Given the description of an element on the screen output the (x, y) to click on. 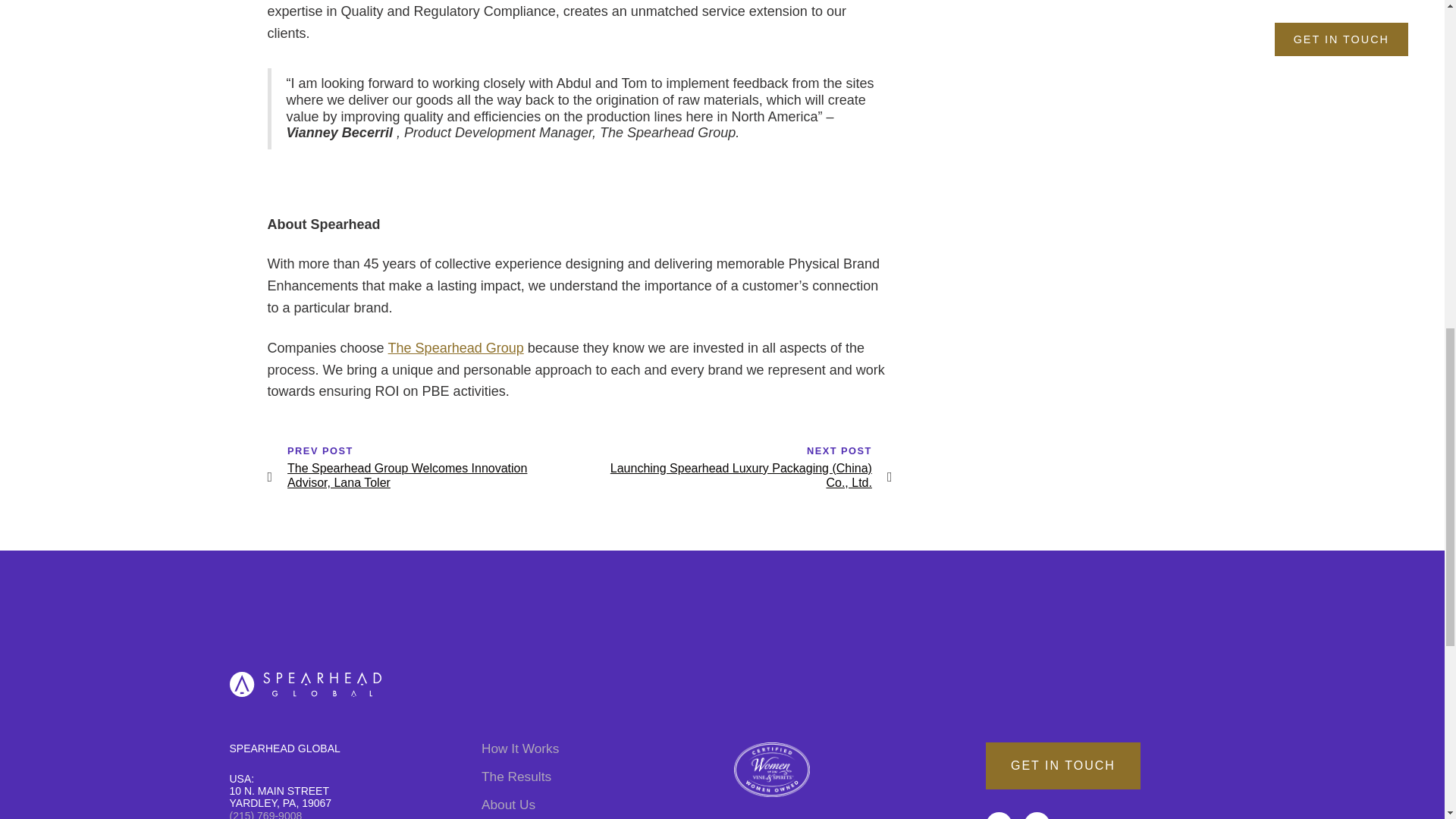
How It Works (596, 748)
The Results (596, 776)
The Spearhead Group (456, 347)
